Given the description of an element on the screen output the (x, y) to click on. 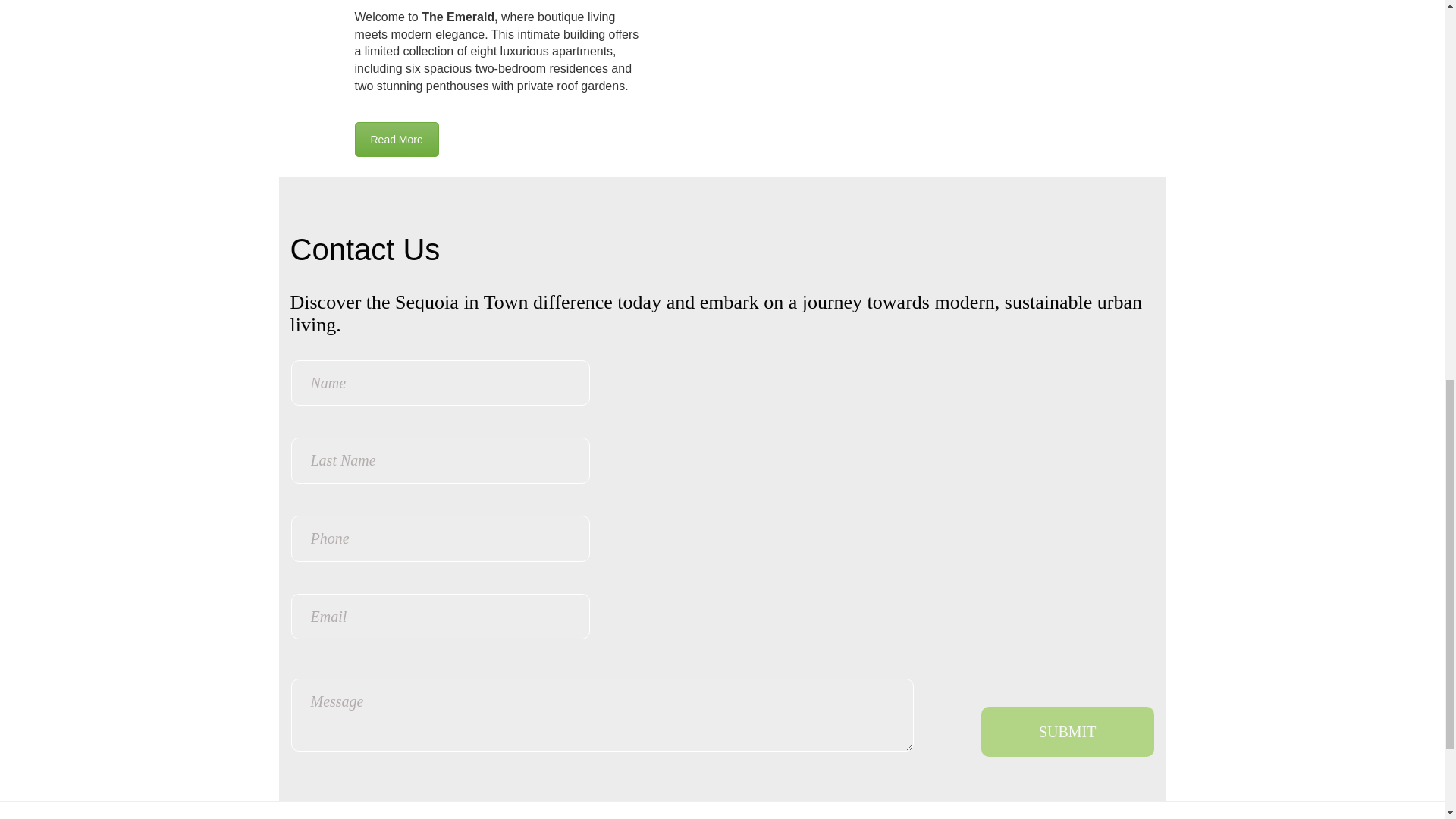
Sequoia in Town: Urban Living Refined (397, 139)
Read More (397, 139)
Submit (1067, 731)
Submit (1067, 731)
